Given the description of an element on the screen output the (x, y) to click on. 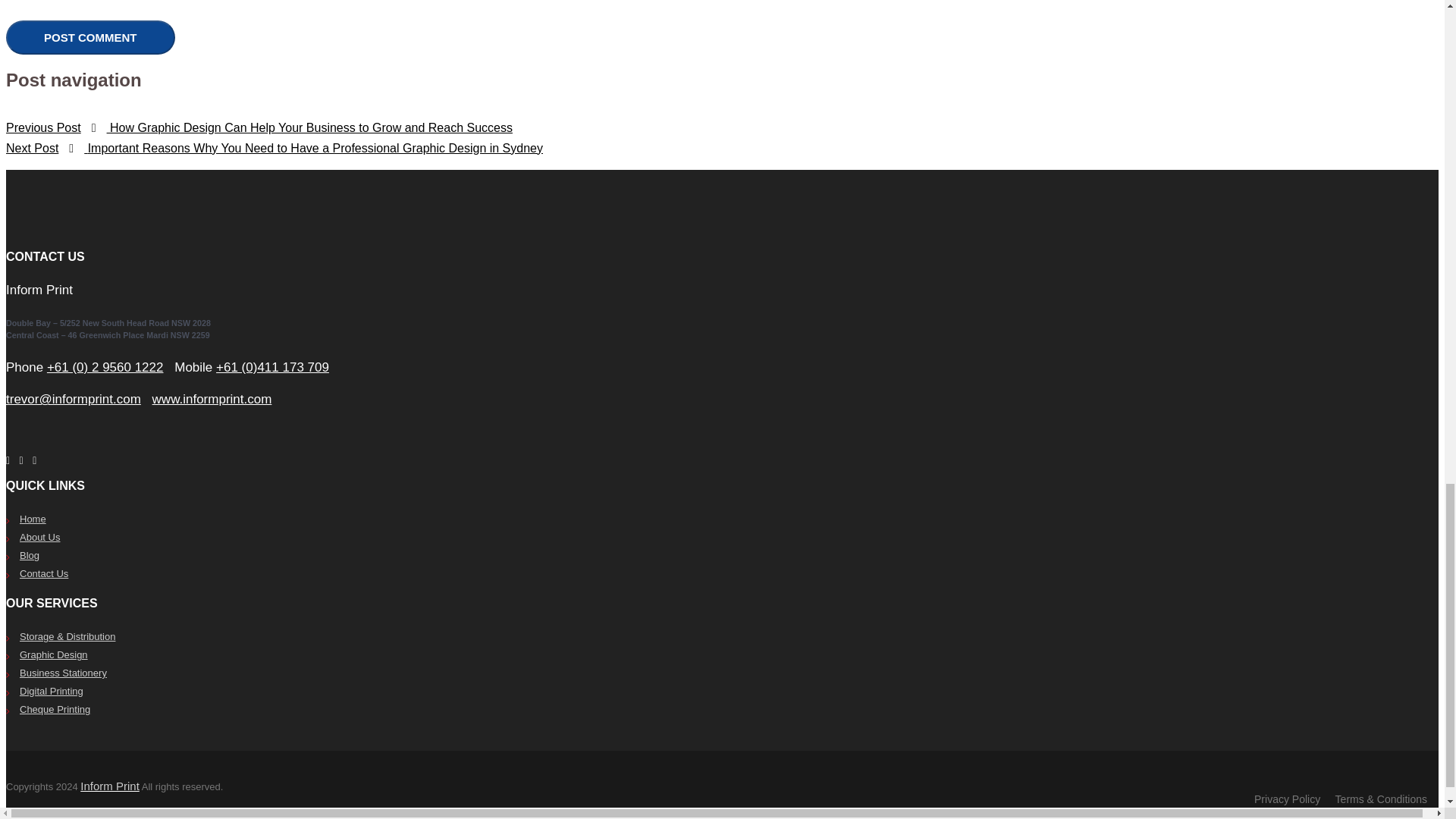
Post Comment (89, 37)
www.informprint.com (212, 399)
Home (33, 518)
Post Comment (89, 37)
About Us (39, 536)
